Given the description of an element on the screen output the (x, y) to click on. 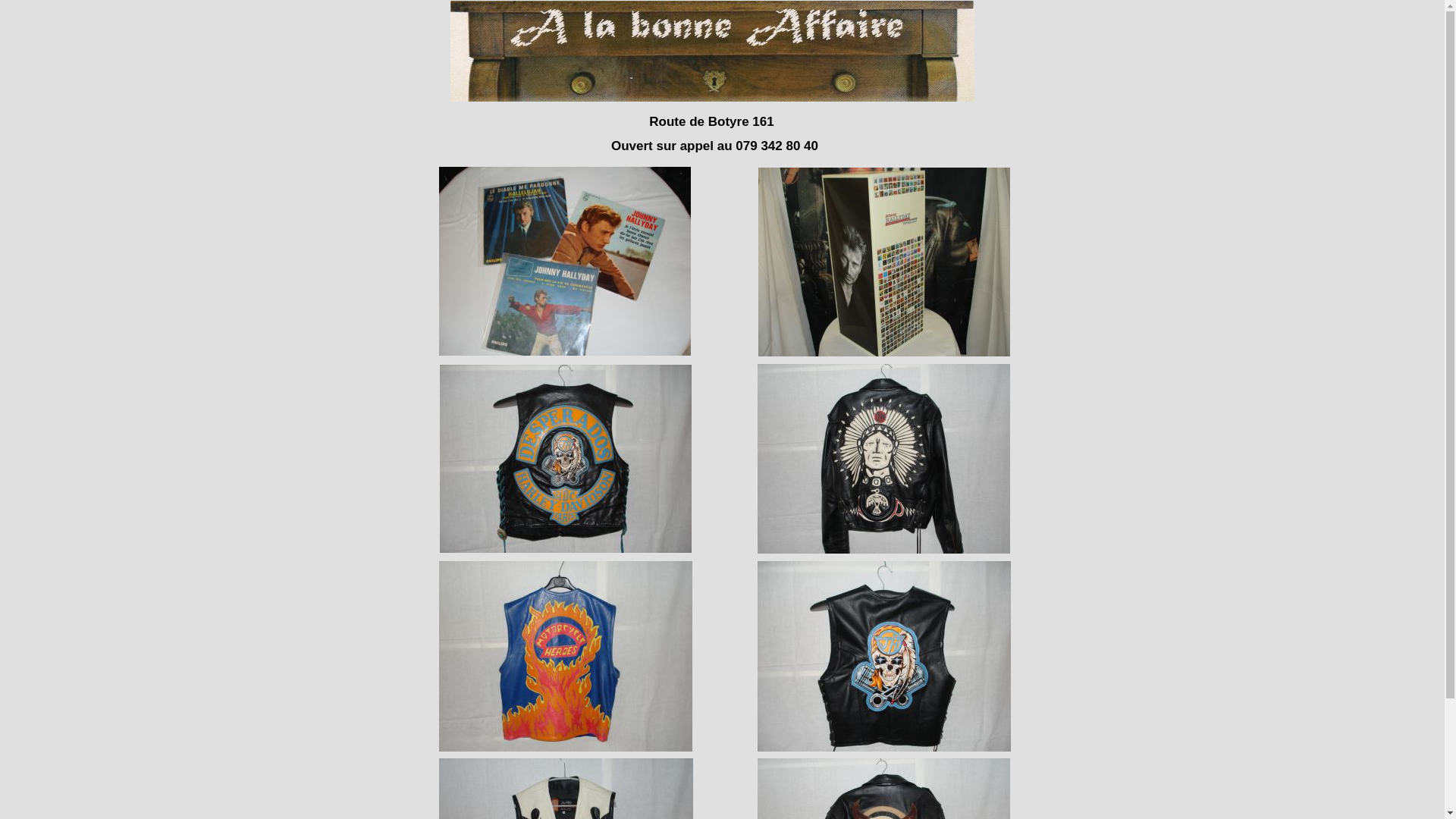
  Element type: text (419, 6)
